Given the description of an element on the screen output the (x, y) to click on. 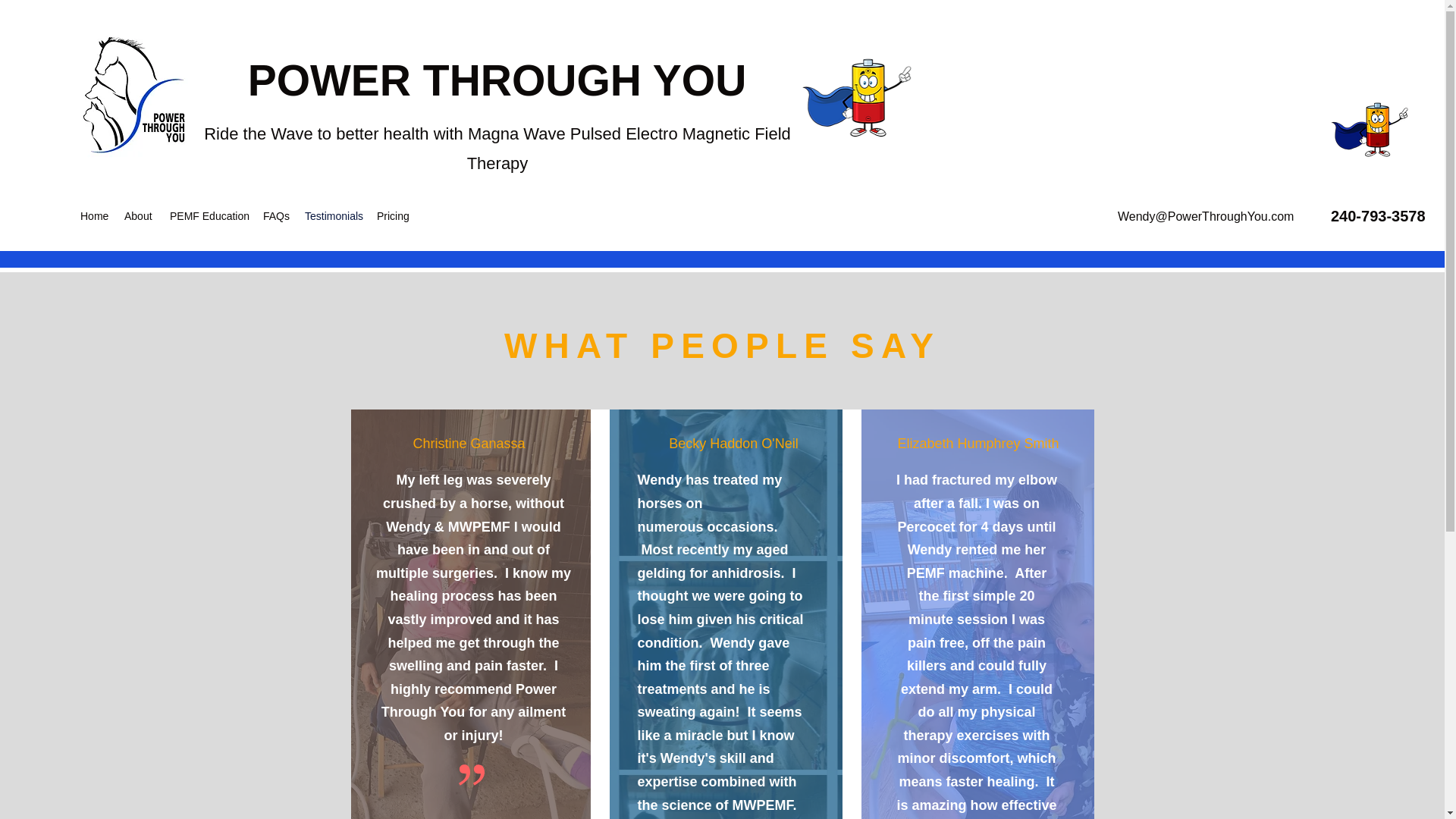
About (138, 215)
PEMF Education (208, 215)
Pricing (392, 215)
Home (94, 215)
FAQs (276, 215)
Testimonials (333, 215)
POWER THROUGH YOU (496, 80)
